Given the description of an element on the screen output the (x, y) to click on. 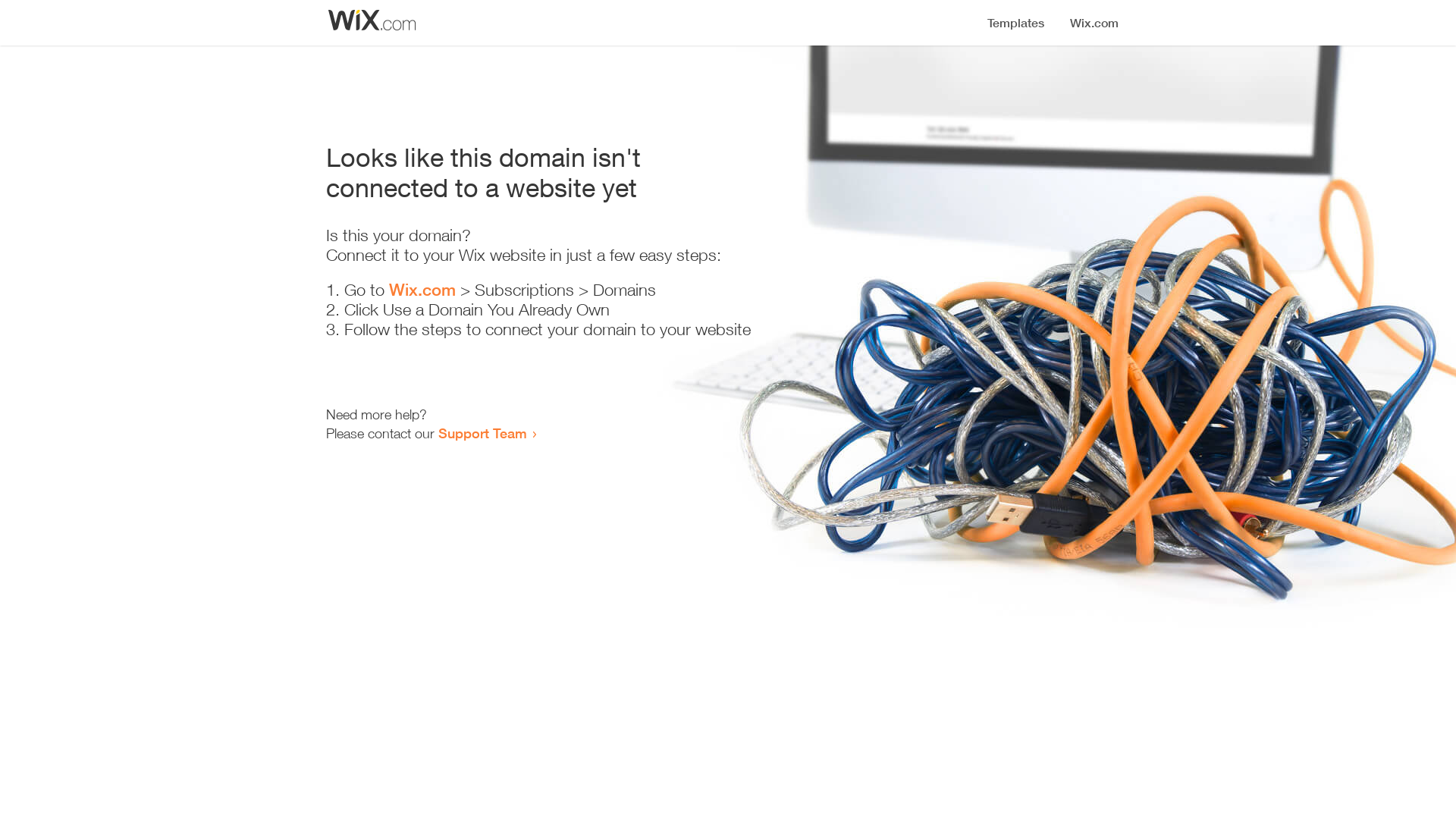
Support Team Element type: text (482, 432)
Wix.com Element type: text (422, 289)
